Given the description of an element on the screen output the (x, y) to click on. 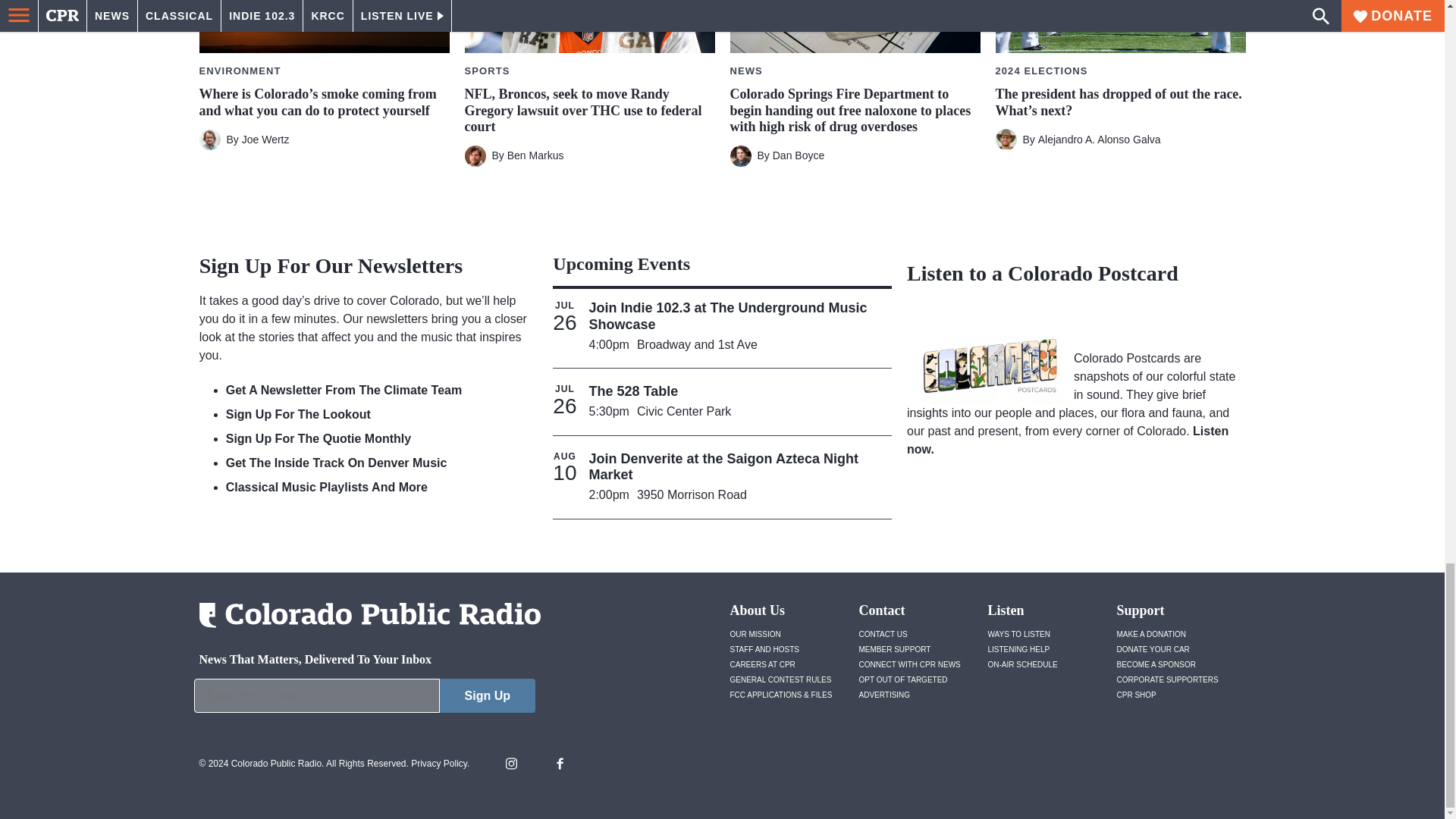
footer (364, 699)
